Given the description of an element on the screen output the (x, y) to click on. 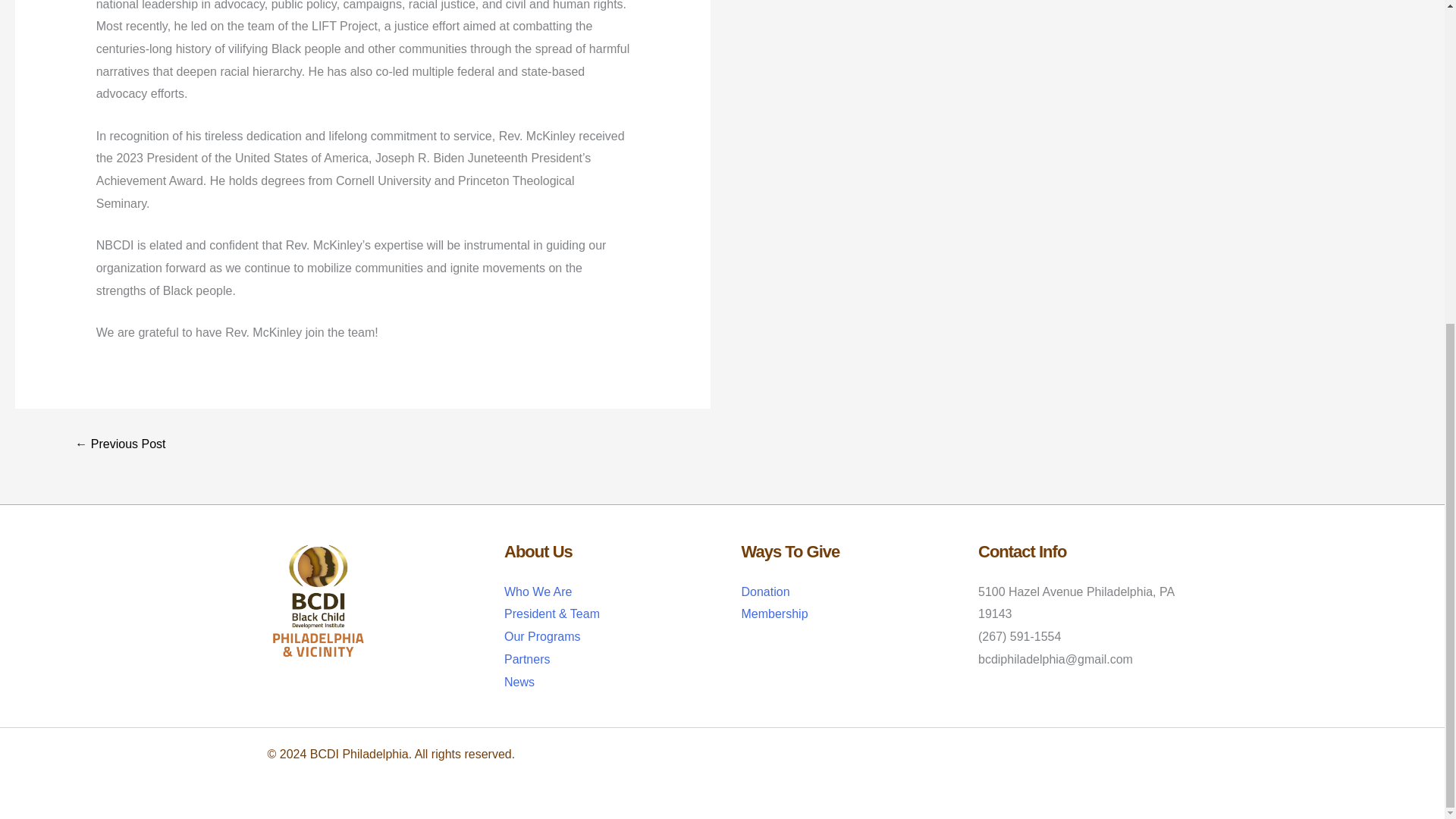
2024 National Conference Postponed (119, 444)
Partners (526, 658)
Our Programs (541, 635)
Who We Are (537, 591)
Donation (765, 591)
News (518, 681)
